Given the description of an element on the screen output the (x, y) to click on. 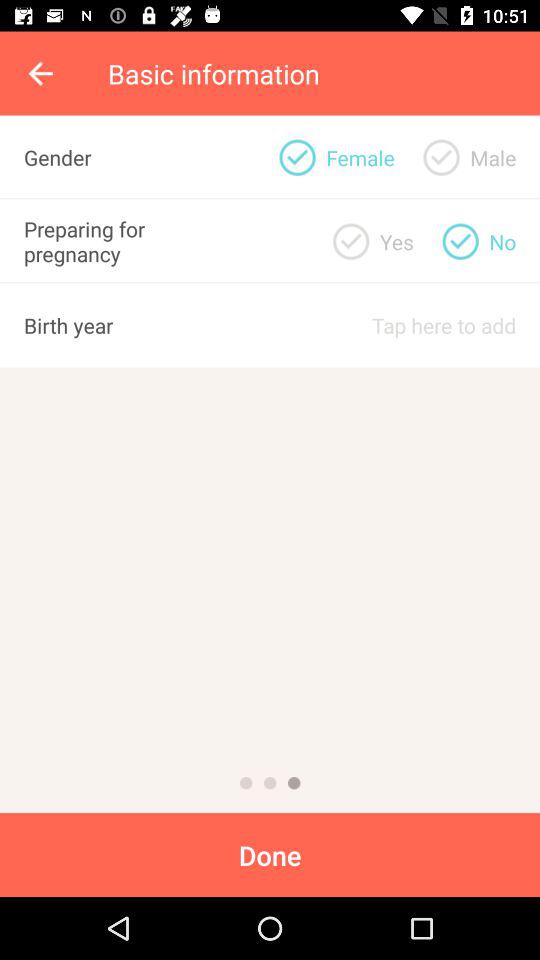
next page (270, 783)
